Given the description of an element on the screen output the (x, y) to click on. 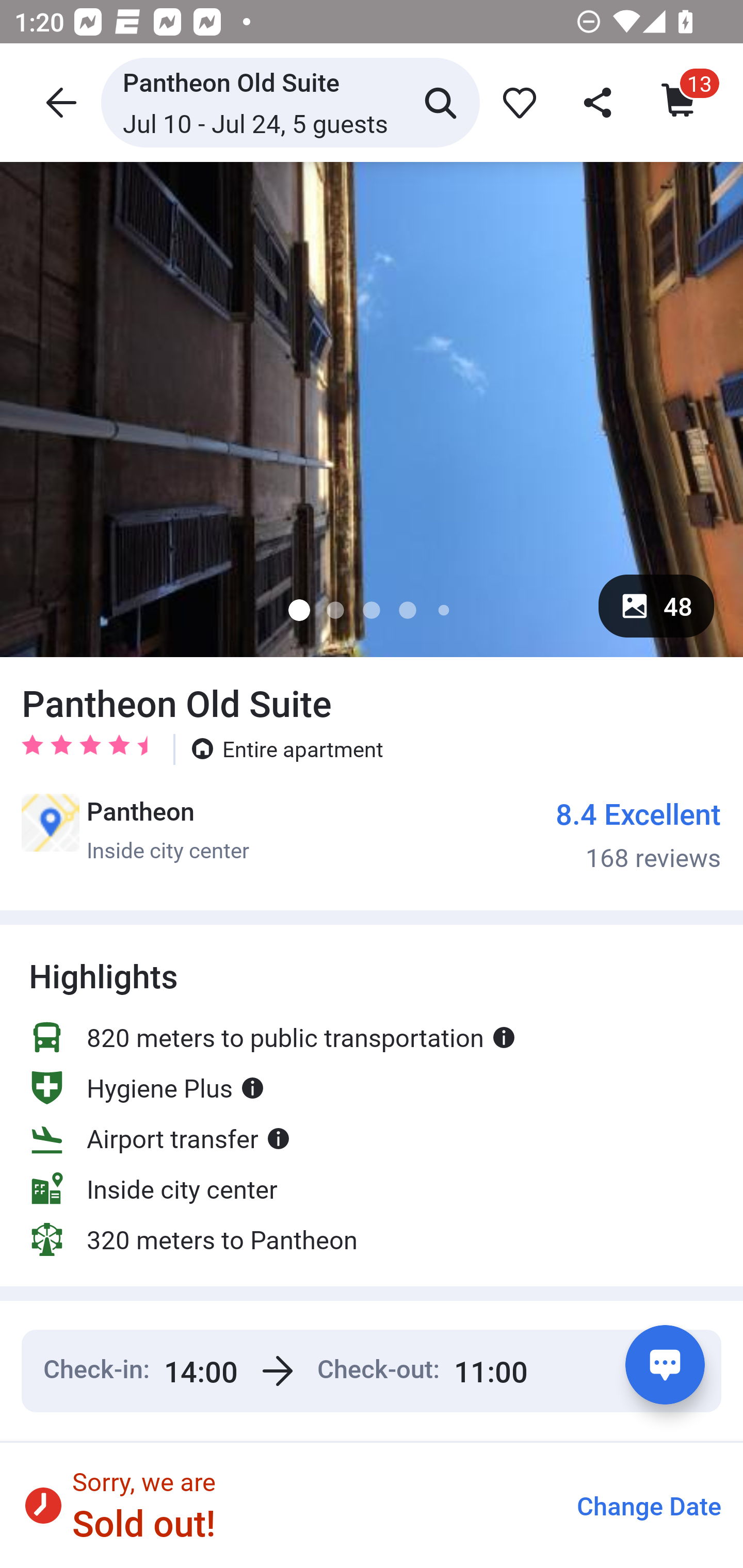
header icon (59, 102)
favorite_icon 0dbe6efb (515, 102)
share_header_icon (598, 102)
Cart icon cart_item_count 13 (679, 102)
image (371, 408)
48 (656, 605)
Pantheon Inside city center (134, 829)
8.4 Excellent 168 reviews (638, 834)
820 meters to public transportation (272, 1037)
Airport transfer (159, 1138)
Change Date (648, 1505)
